Given the description of an element on the screen output the (x, y) to click on. 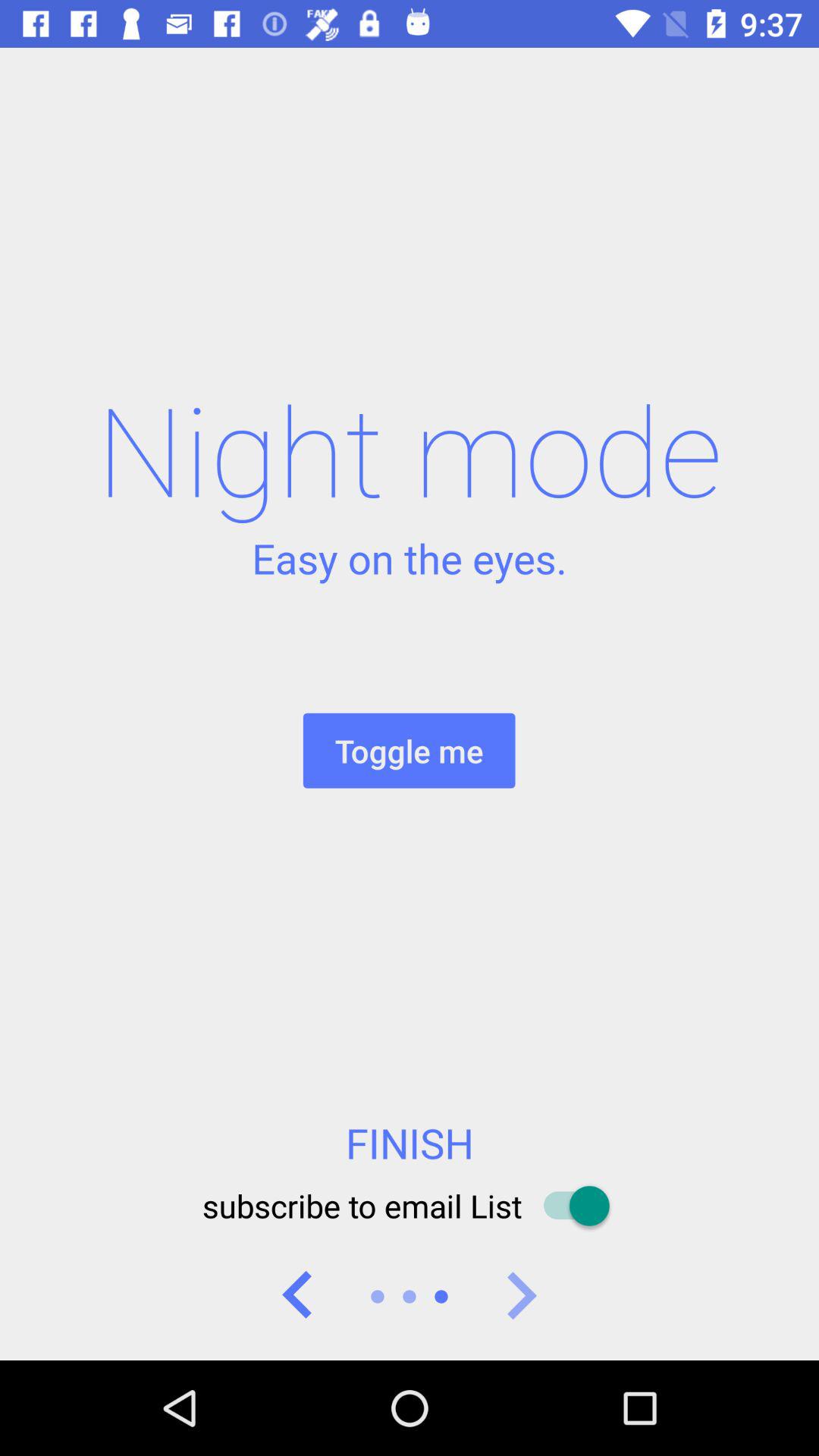
tap item below the subscribe to email icon (297, 1296)
